Given the description of an element on the screen output the (x, y) to click on. 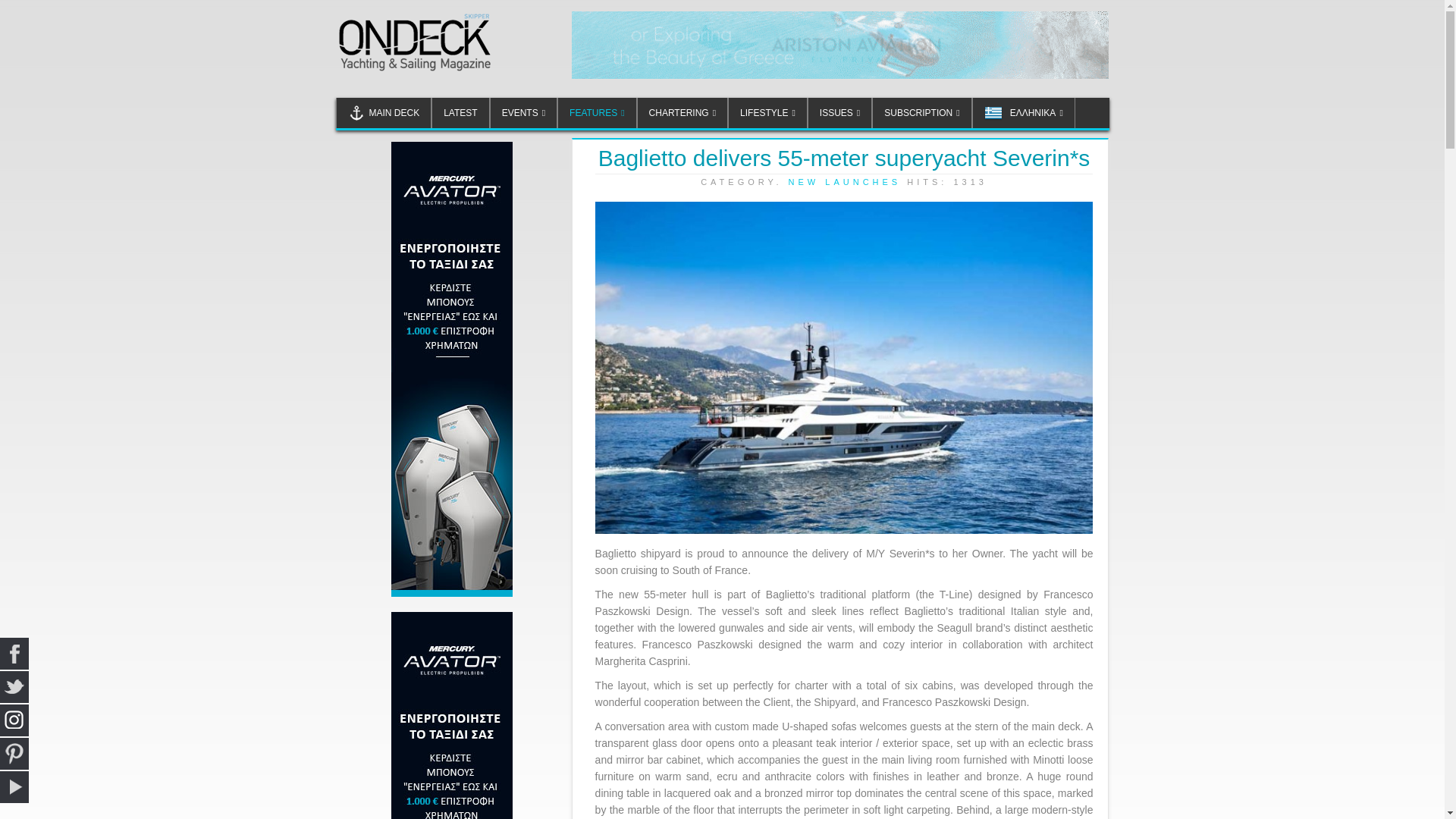
FEATURES (596, 112)
LIFESTYLE (767, 112)
CHARTERING (682, 112)
Zois Mercury Avator Side (451, 368)
LATEST (459, 112)
EVENTS (524, 112)
Ariston Aviation (840, 44)
MAIN DECK (382, 112)
